Given the description of an element on the screen output the (x, y) to click on. 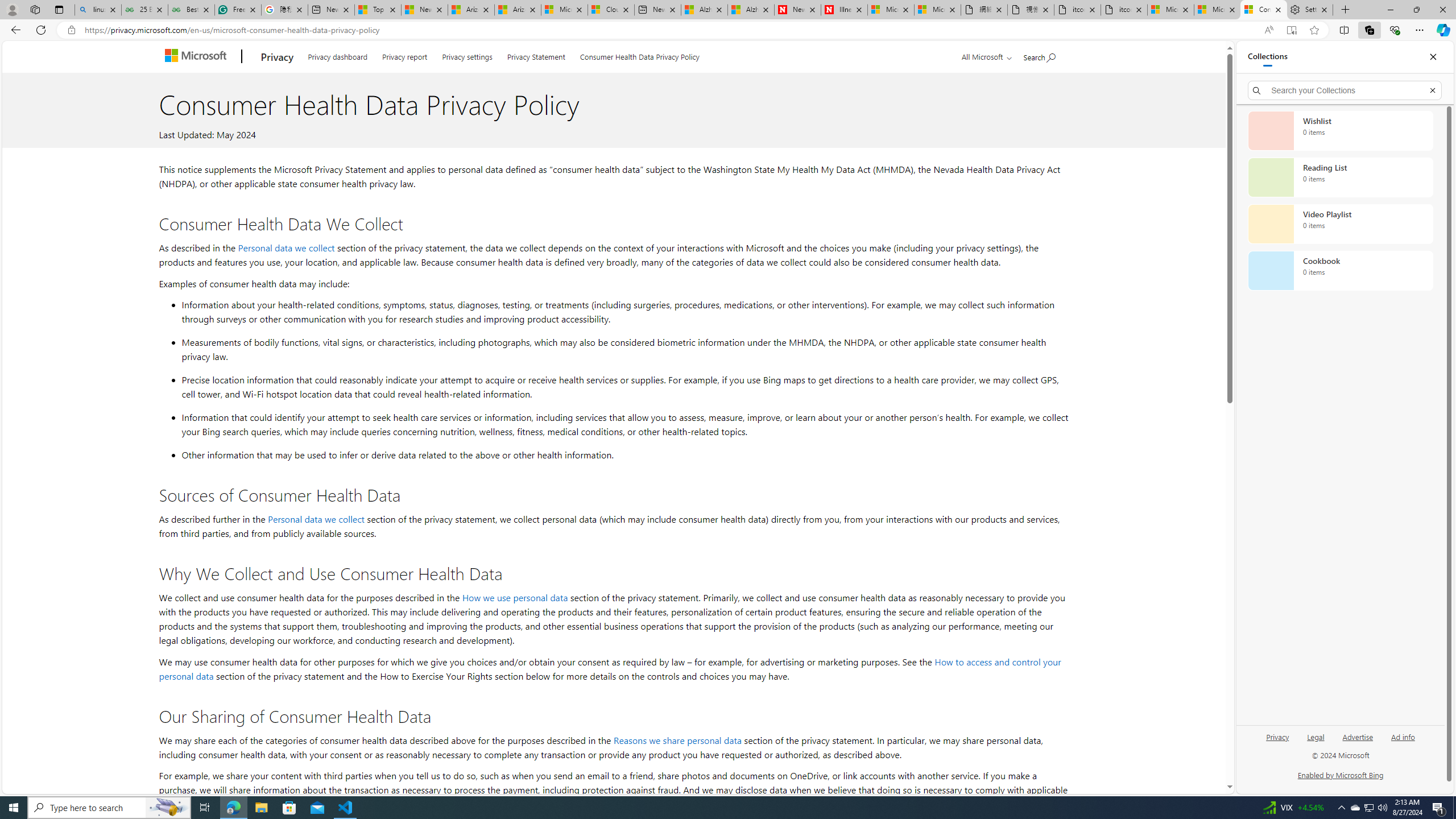
How we use personal data (514, 597)
Exit search (1432, 90)
Privacy dashboard (337, 54)
